Given the description of an element on the screen output the (x, y) to click on. 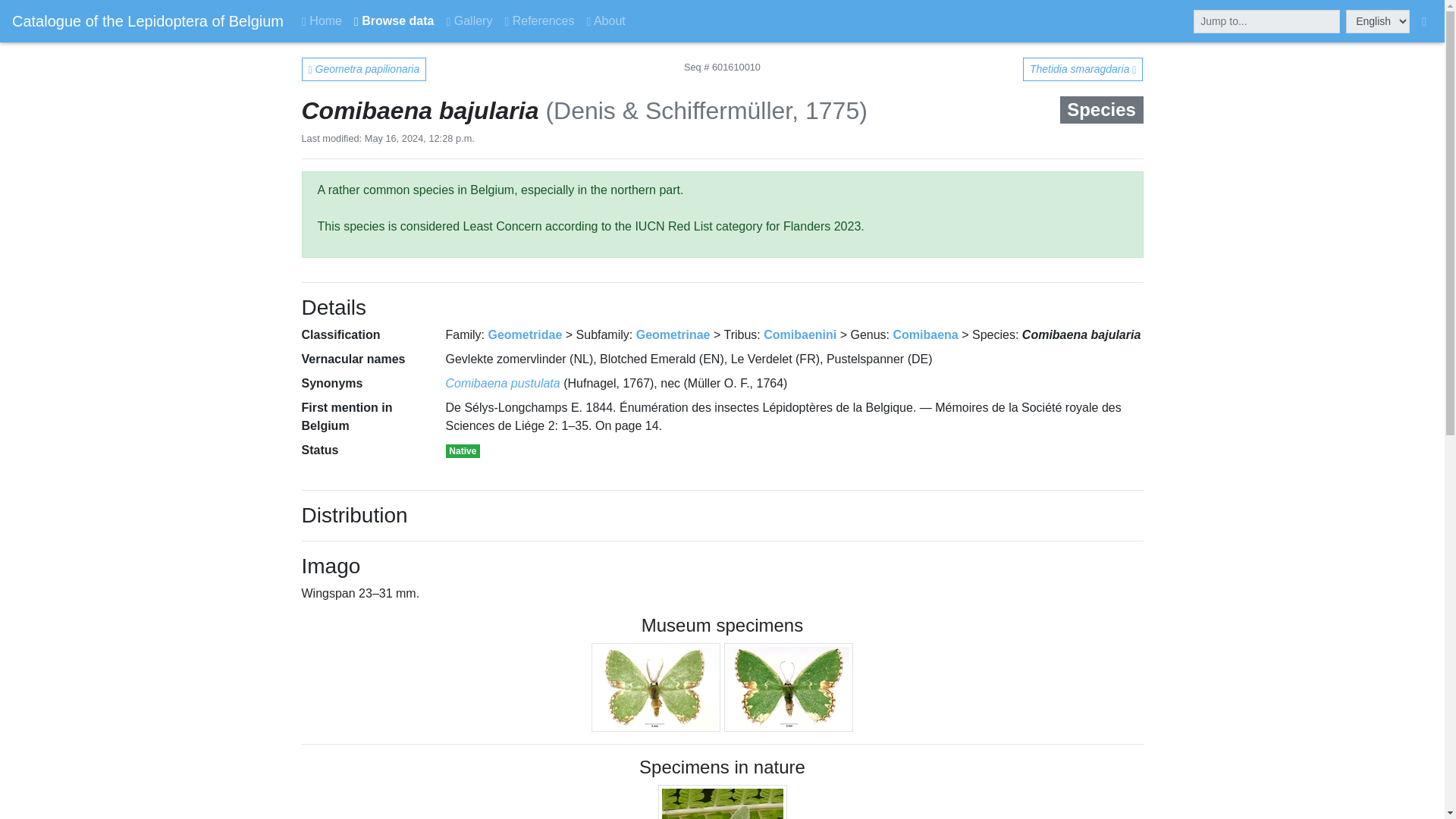
Browse data (393, 20)
Comibaenini (798, 334)
Comibaena pustulata (502, 382)
Gallery (468, 20)
About (605, 20)
Geometridae (524, 334)
Thetidia smaragdaria (1082, 69)
Home (321, 20)
Comibaena (925, 334)
References (538, 20)
Catalogue of the Lepidoptera of Belgium (147, 20)
Geometrinae (673, 334)
Geometra papilionaria (363, 69)
